Given the description of an element on the screen output the (x, y) to click on. 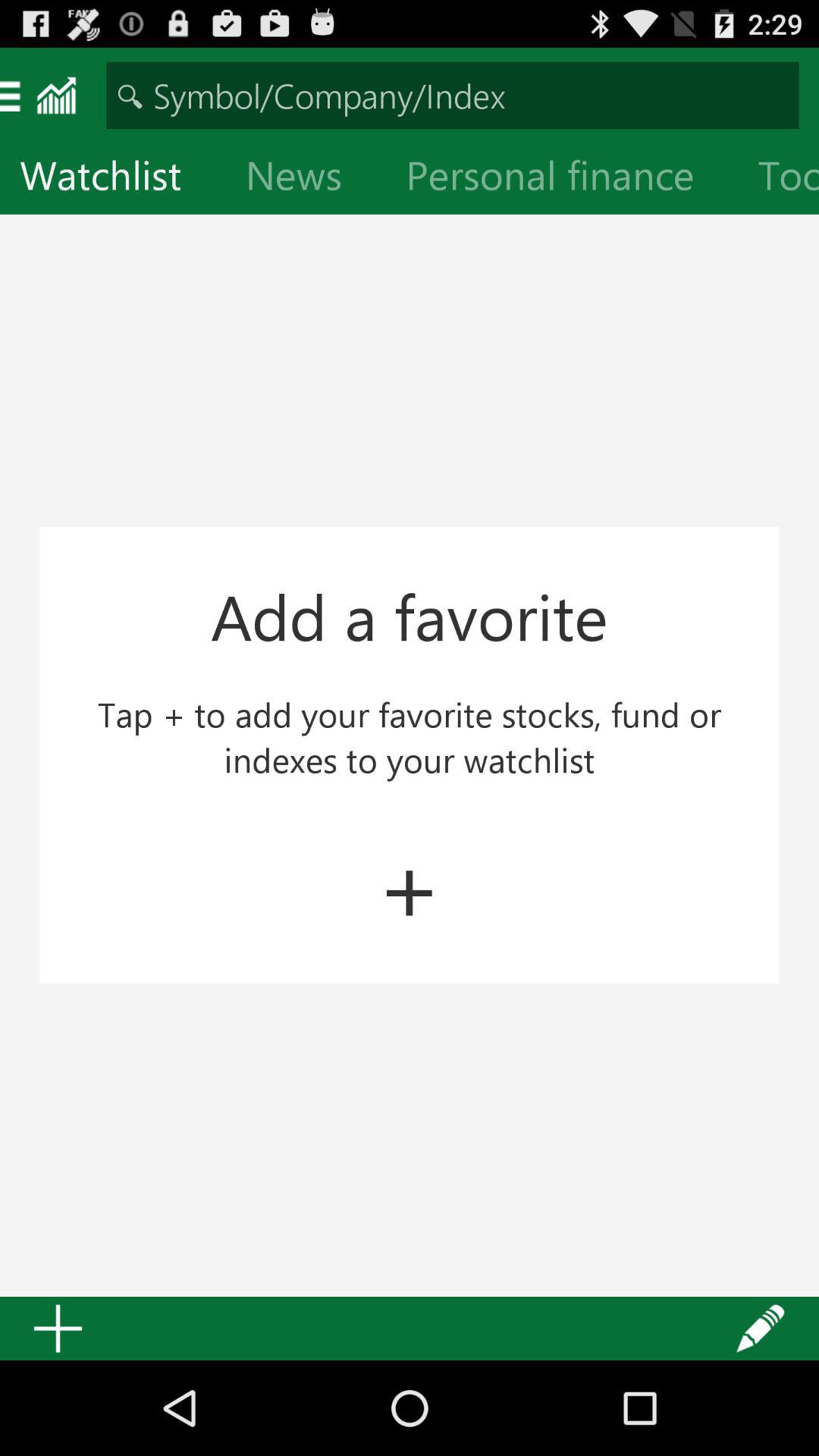
press item to the right of the personal finance (778, 178)
